Given the description of an element on the screen output the (x, y) to click on. 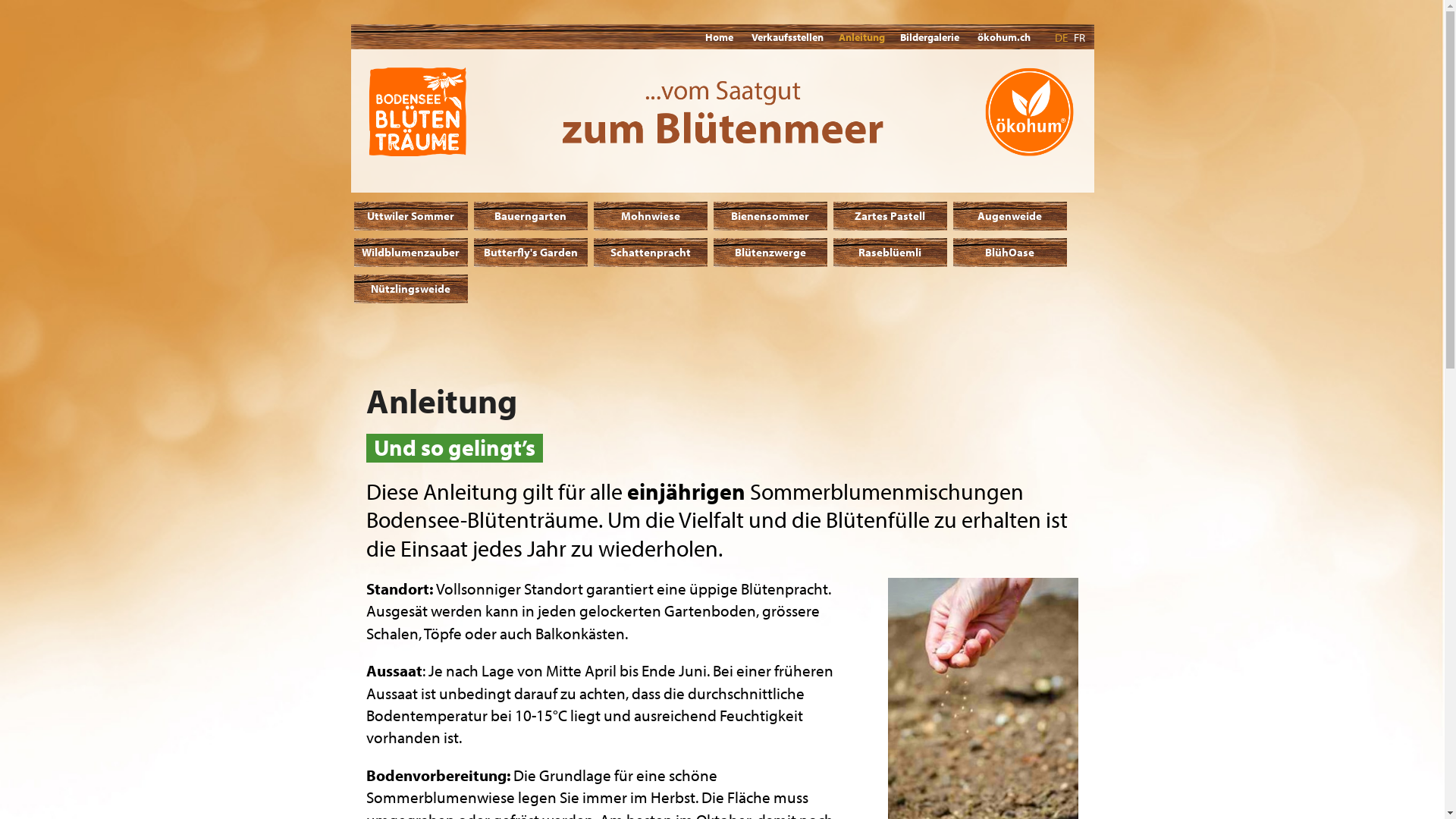
Home Element type: text (718, 38)
Bienensommer Element type: text (769, 215)
Verkaufsstellen Element type: text (786, 38)
Zartes Pastell Element type: text (889, 215)
Wildblumenzauber Element type: text (410, 252)
Uttwiler Sommer Element type: text (410, 215)
Anleitung Element type: text (861, 36)
Augenweide Element type: text (1009, 215)
Mohnwiese Element type: text (649, 215)
Bauerngarten Element type: text (529, 215)
Schattenpracht Element type: text (649, 252)
Bildergalerie Element type: text (928, 38)
FR Element type: text (1079, 38)
Butterfly's Garden Element type: text (529, 252)
DE Element type: text (1060, 38)
